Given the description of an element on the screen output the (x, y) to click on. 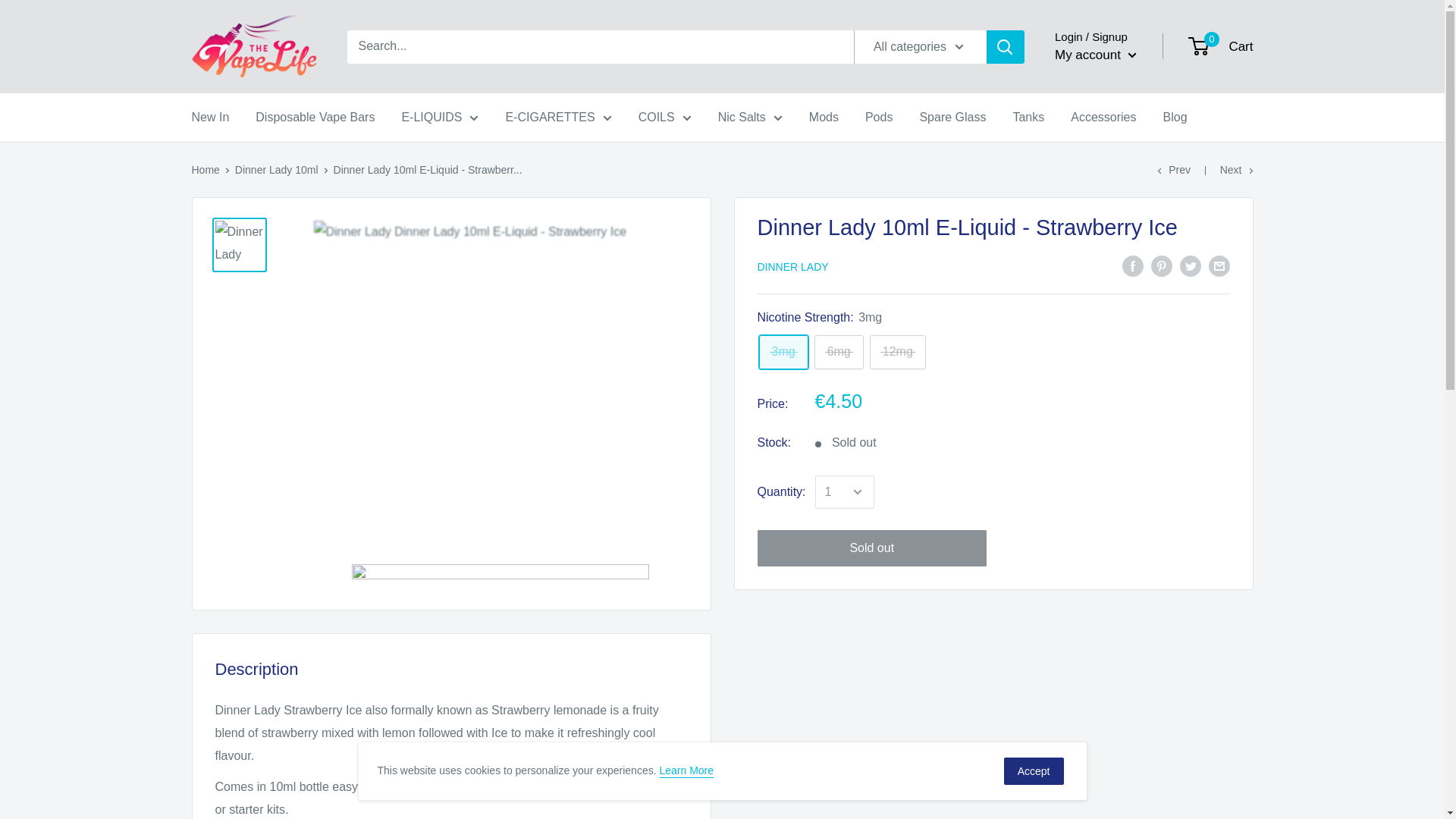
3mg (783, 351)
6mg (838, 351)
12mg (897, 351)
